Given the description of an element on the screen output the (x, y) to click on. 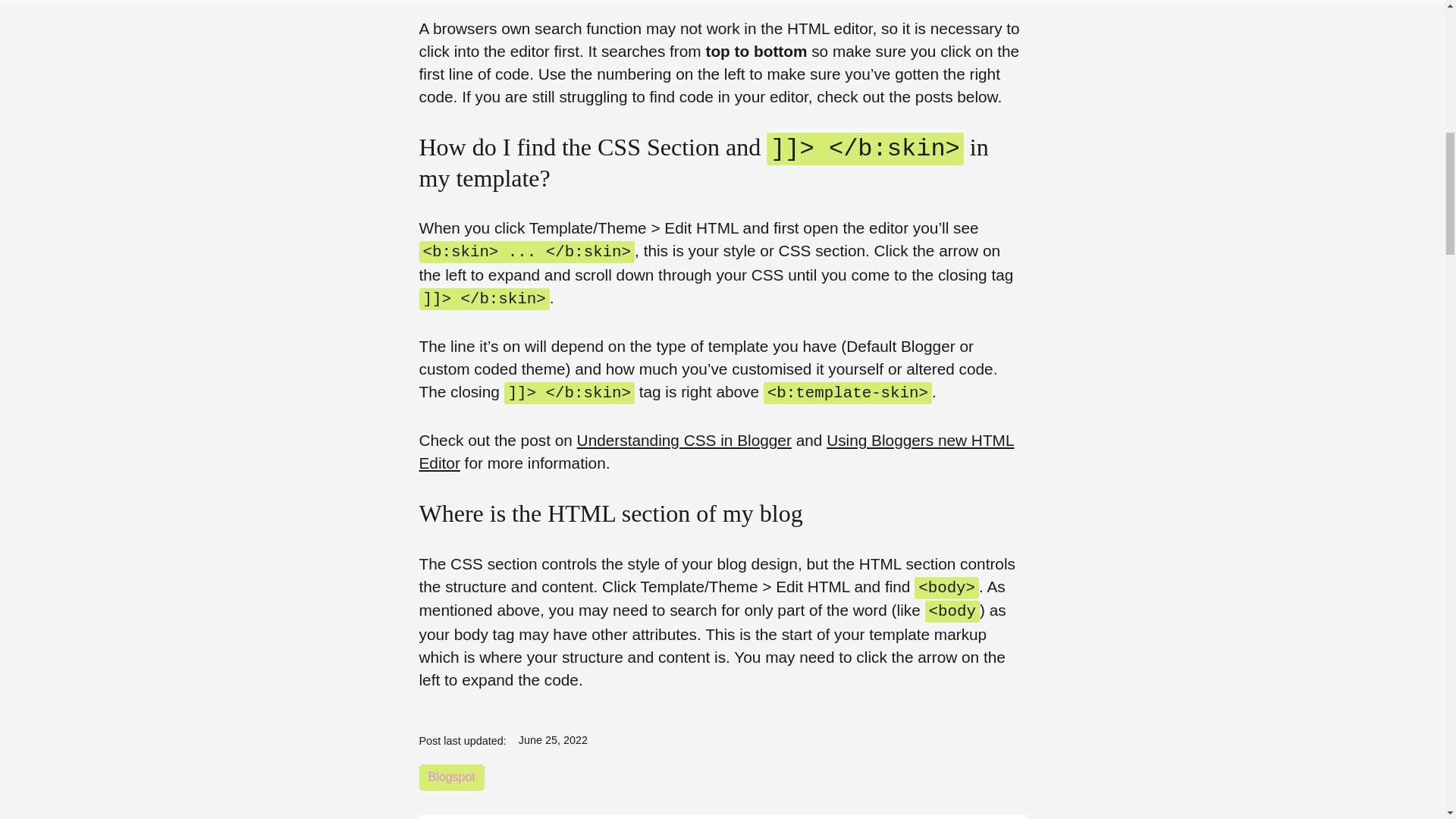
Understanding CSS in Blogger (684, 439)
Understanding CSS in Blogger (684, 439)
Blogger updates for an easier way to design your blog (716, 451)
Using Bloggers new HTML Editor (716, 451)
Blogspot (451, 777)
